Given the description of an element on the screen output the (x, y) to click on. 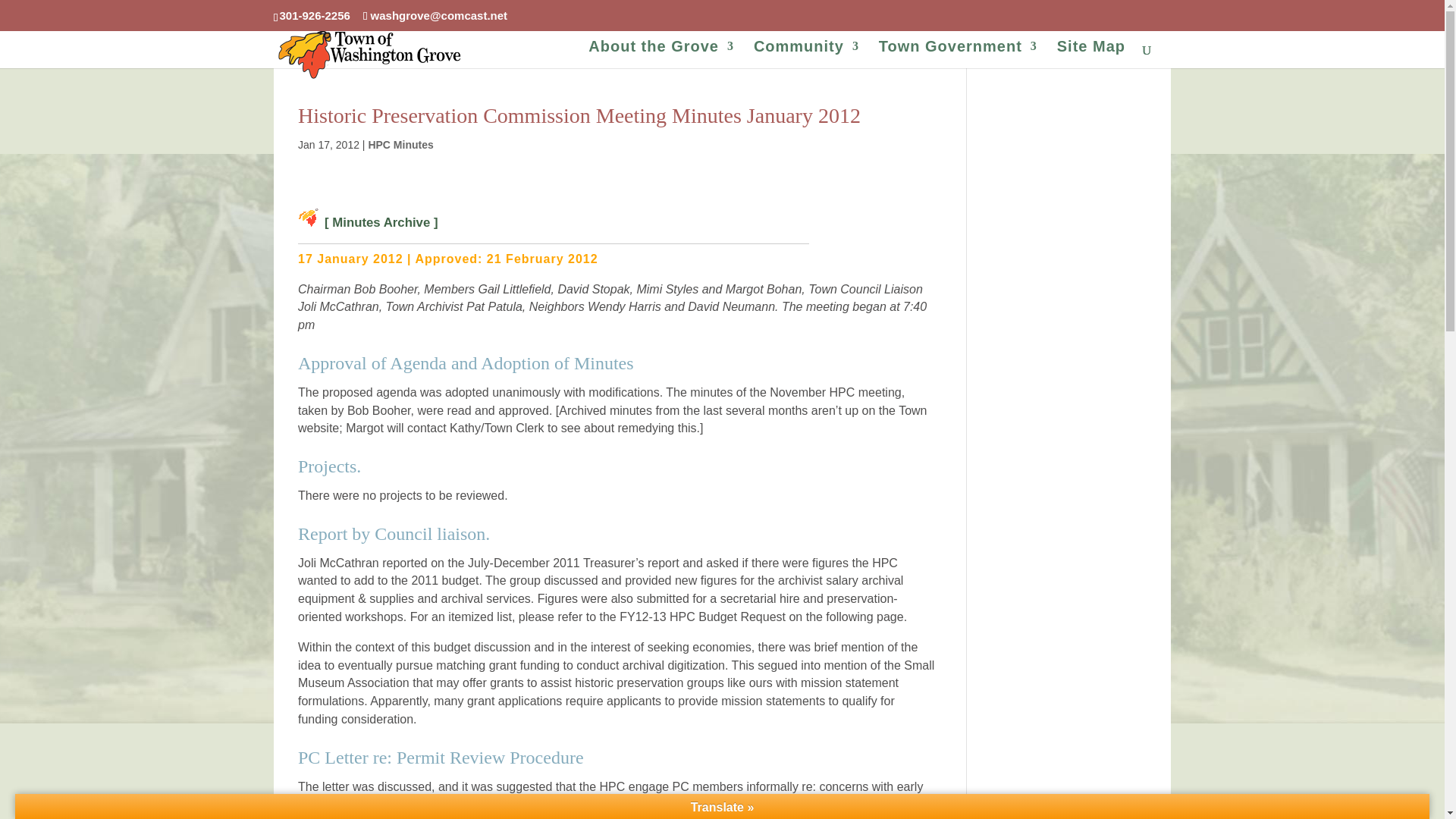
About the Grove (660, 56)
Community (806, 56)
Government (957, 56)
